Given the description of an element on the screen output the (x, y) to click on. 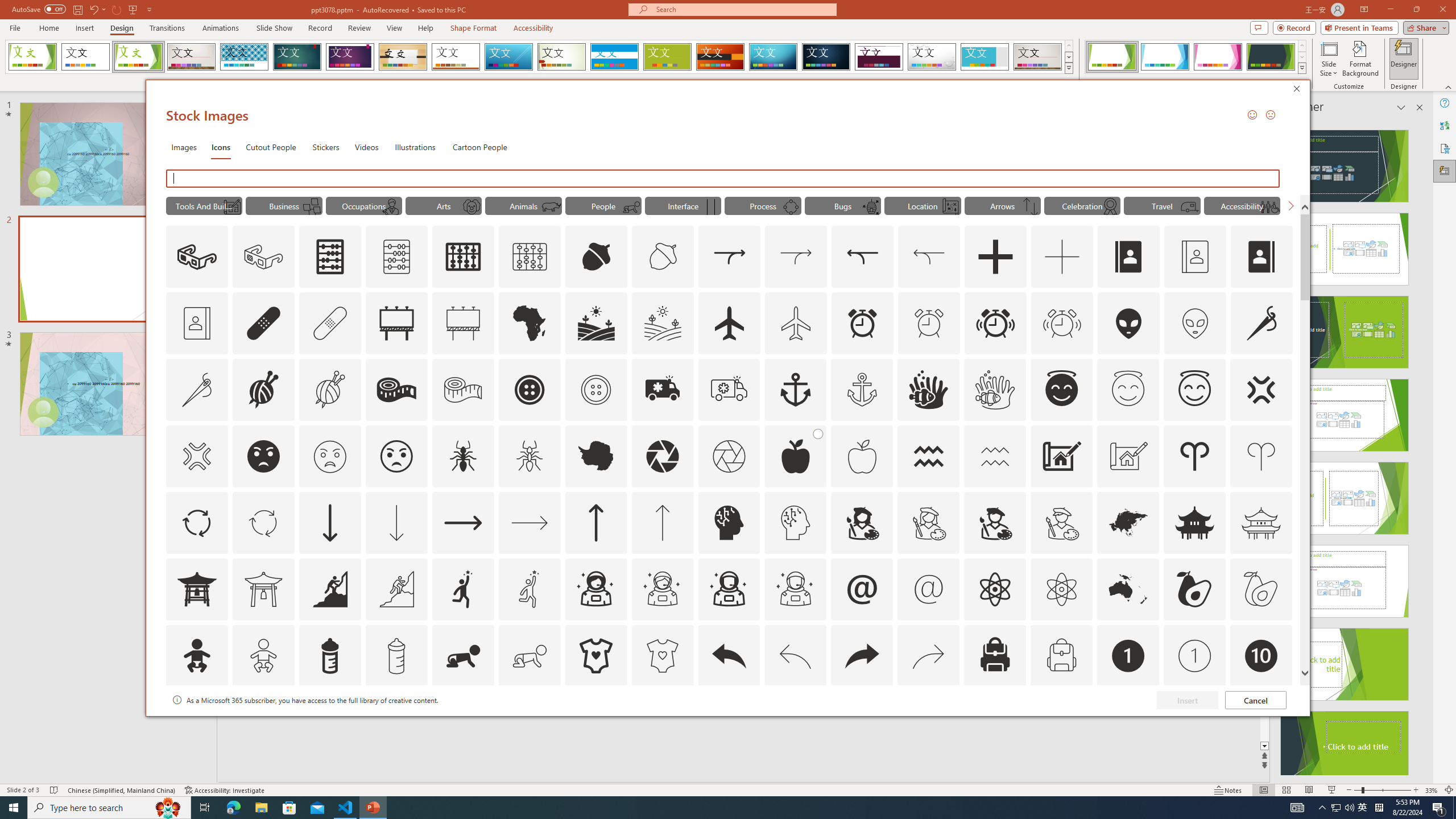
"Arts" Icons. (443, 205)
AutomationID: Icons_Abacus1_M (529, 256)
Thumbnail (1283, 699)
AutomationID: Icons_Back_RTL (861, 655)
AutomationID: Icons_At (861, 588)
AutomationID: Icons (1260, 721)
AutomationID: Icons_AlterationsTailoring3_M (595, 389)
